Given the description of an element on the screen output the (x, y) to click on. 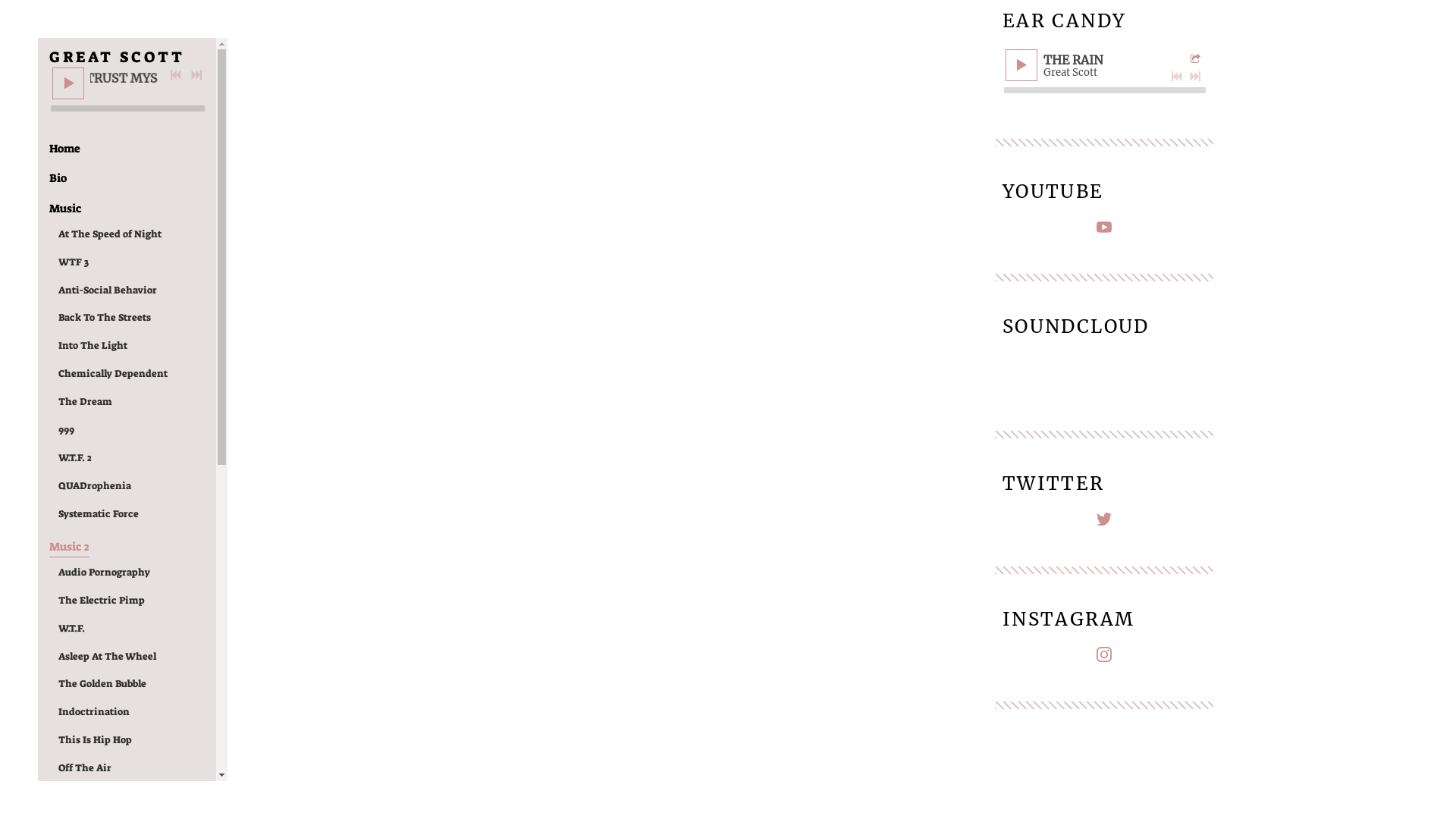
Music Element type: text (65, 208)
Previous track Element type: hover (1176, 76)
https://www.youtube.com/user/GreatScott561/videos Element type: hover (1103, 229)
GREAT SCOTT Element type: text (117, 55)
Share The Rain Element type: hover (1197, 59)
Off The Air Element type: text (84, 768)
Audio Pornography Element type: text (103, 572)
The Golden Bubble Element type: text (102, 684)
WTF 3 Element type: text (73, 262)
QUADrophenia Element type: text (94, 486)
At The Speed of Night Element type: text (109, 234)
Bio Element type: text (57, 178)
Back To The Streets Element type: text (104, 317)
Home Element type: text (64, 149)
Next track Element type: hover (196, 74)
https://twitter.com/GreatScott561 Element type: hover (1103, 521)
W.T.F. Element type: text (71, 628)
Next track Element type: hover (1194, 76)
Previous track Element type: hover (175, 74)
Music 2 Element type: text (69, 547)
The Electric Pimp Element type: text (101, 600)
Indoctrination Element type: text (93, 712)
Chemically Dependent Element type: text (112, 374)
This Is Hip Hop Element type: text (94, 740)
Into The Light Element type: text (92, 345)
The Dream Element type: text (85, 402)
W.T.F. 2 Element type: text (74, 458)
999 Element type: text (66, 430)
Systematic Force Element type: text (98, 514)
Play Element type: hover (68, 82)
Asleep At The Wheel Element type: text (107, 656)
https://www.instagram.com/greatscott561/ Element type: hover (1103, 656)
Anti-Social Behavior Element type: text (107, 290)
This Guys Nuts Element type: text (93, 796)
Play Element type: hover (1021, 65)
